Given the description of an element on the screen output the (x, y) to click on. 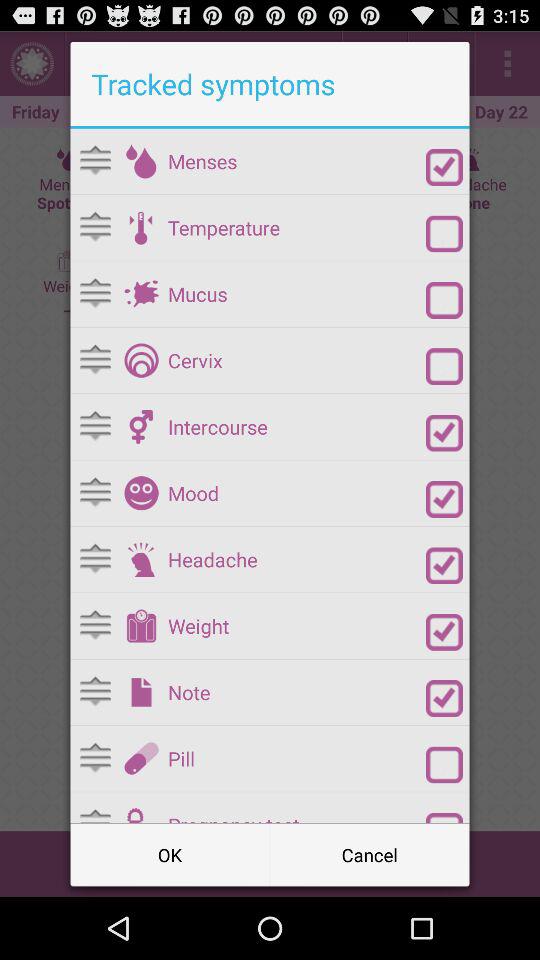
toggle select option (444, 233)
